Given the description of an element on the screen output the (x, y) to click on. 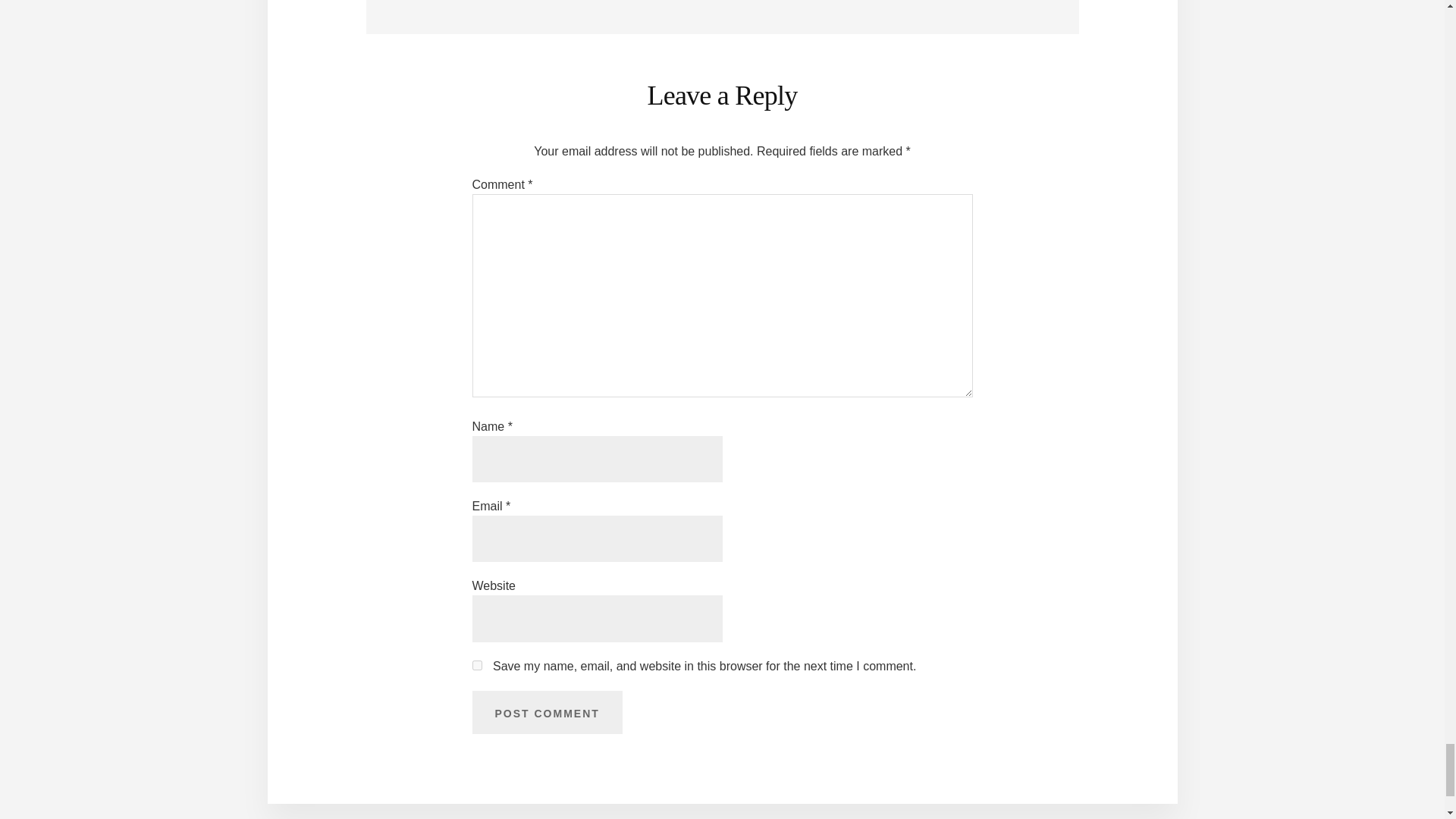
Post Comment (546, 712)
yes (476, 665)
